Given the description of an element on the screen output the (x, y) to click on. 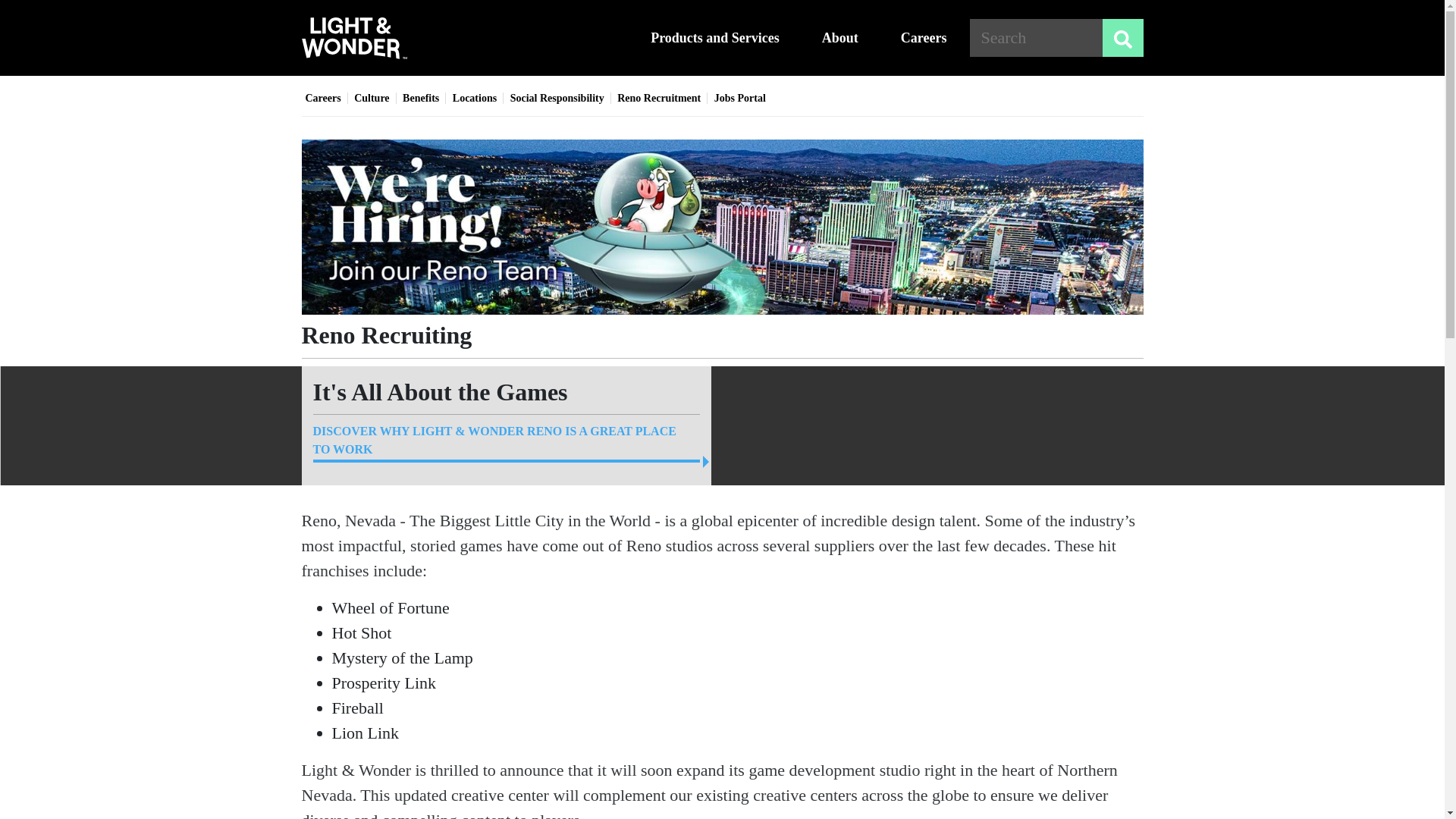
Careers (923, 37)
Locations (474, 98)
Careers (322, 98)
Products and Services (722, 37)
About (847, 37)
Benefits (421, 98)
Social Responsibility (557, 98)
Culture (370, 98)
Jobs Portal (739, 98)
Reno Recruitment (658, 98)
